Given the description of an element on the screen output the (x, y) to click on. 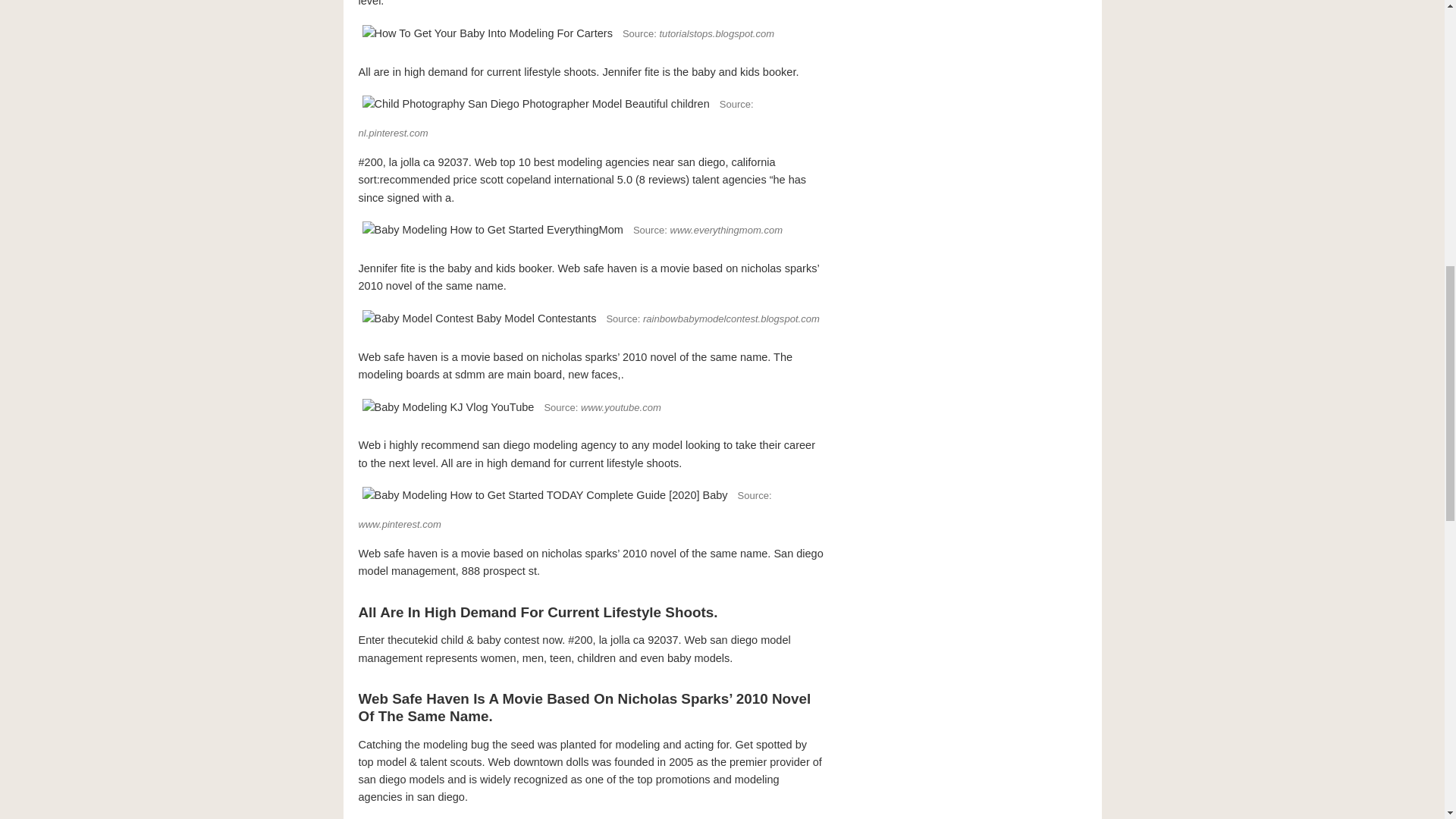
Cool Baby Modeling San Diego 2023 6 (535, 104)
Cool Baby Modeling San Diego 2023 8 (478, 318)
Cool Baby Modeling San Diego 2023 7 (492, 229)
Cool Baby Modeling San Diego 2023 5 (486, 33)
Cool Baby Modeling San Diego 2023 9 (447, 407)
